Given the description of an element on the screen output the (x, y) to click on. 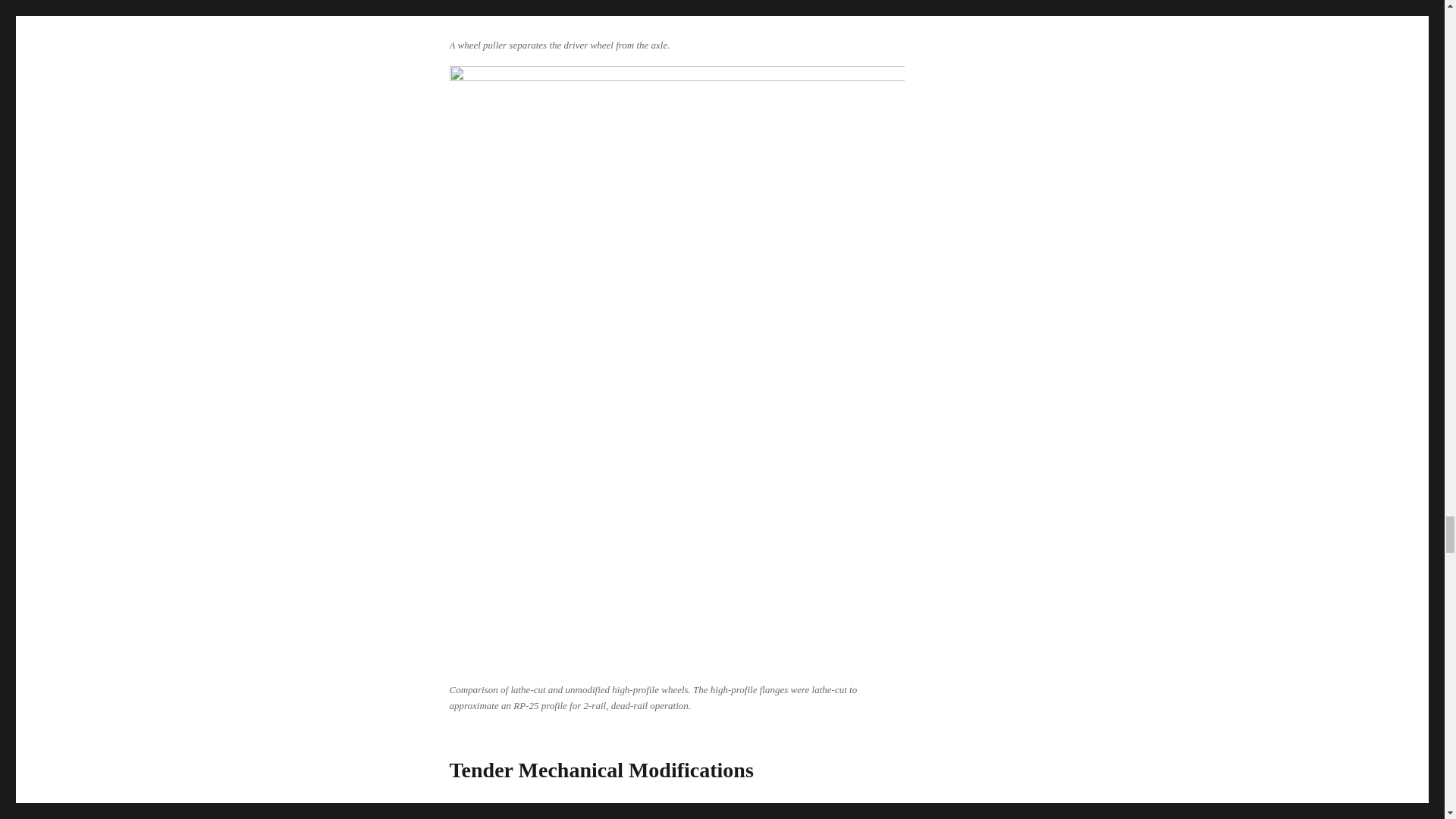
Kadee 740 coupler (770, 813)
